Given the description of an element on the screen output the (x, y) to click on. 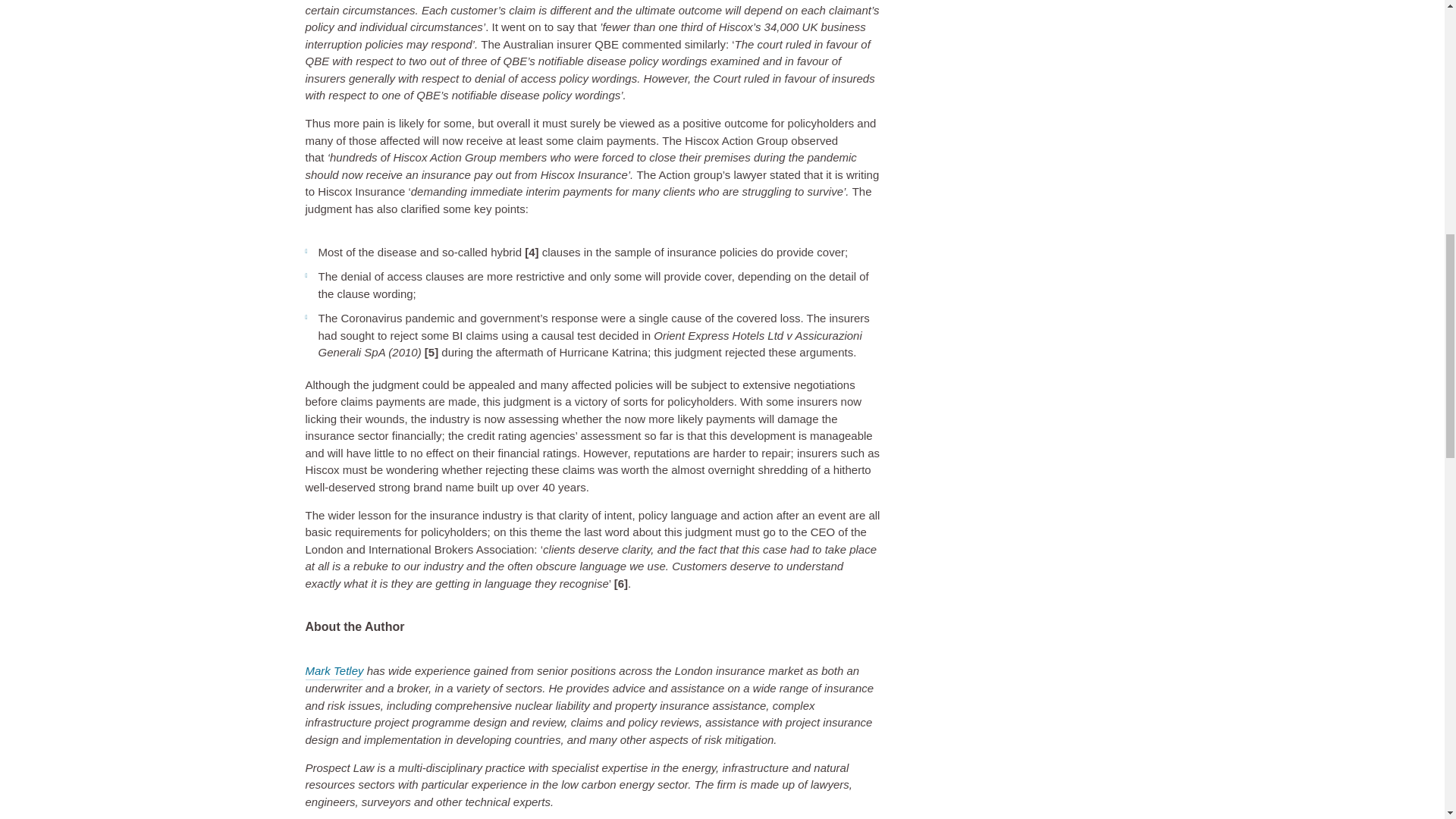
Mark Tetley (333, 671)
